Given the description of an element on the screen output the (x, y) to click on. 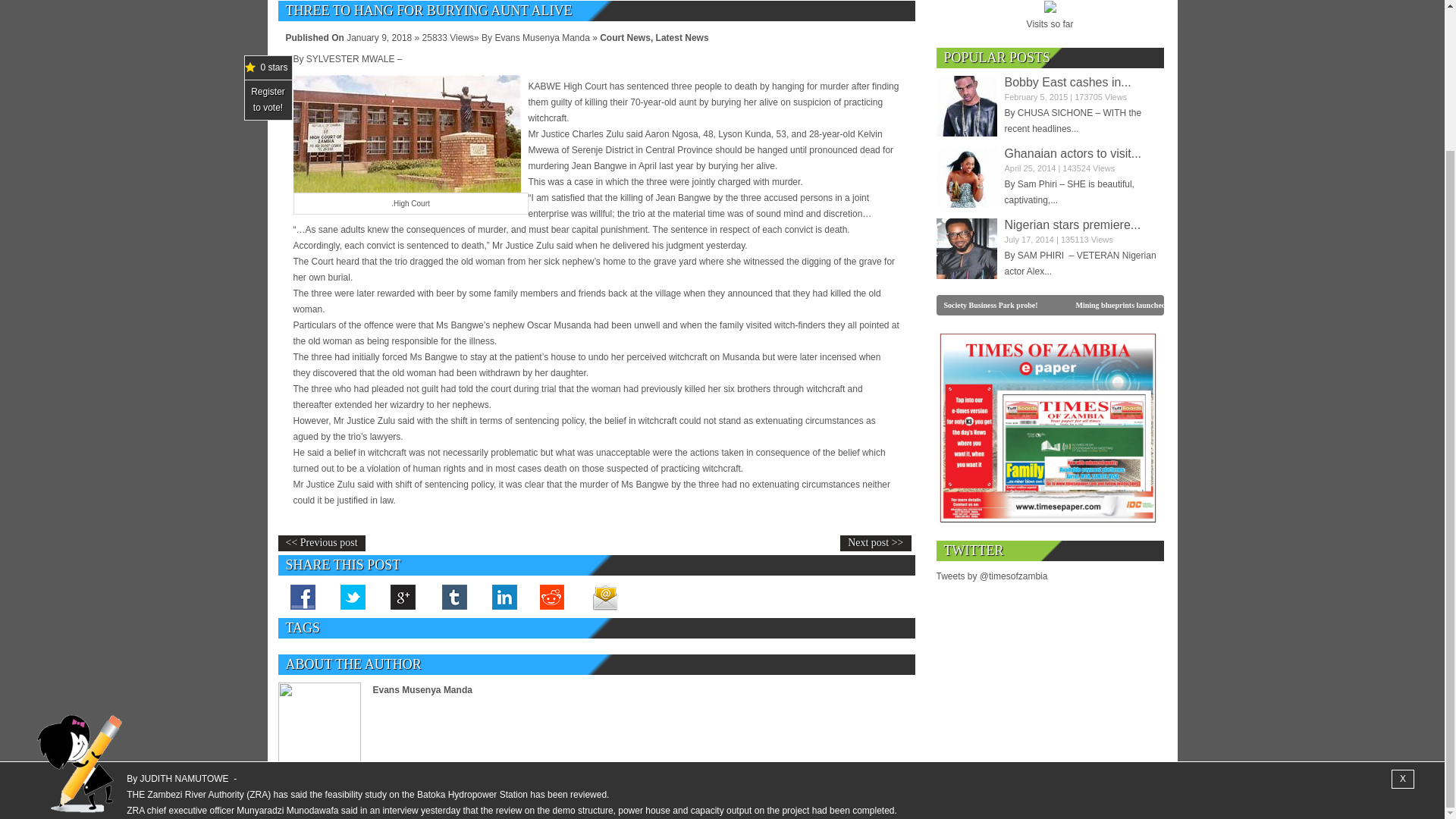
Tumblr (453, 596)
Bobby East  cashes in at  The Bank Cafe (965, 106)
Ghanaian actors to visit Zambia (965, 177)
Reddit (553, 596)
Twitter (352, 596)
Linkedin (502, 596)
Mining blueprints launched (1139, 305)
Facebook (303, 596)
Posts by Evans Musenya Manda (421, 689)
